Given the description of an element on the screen output the (x, y) to click on. 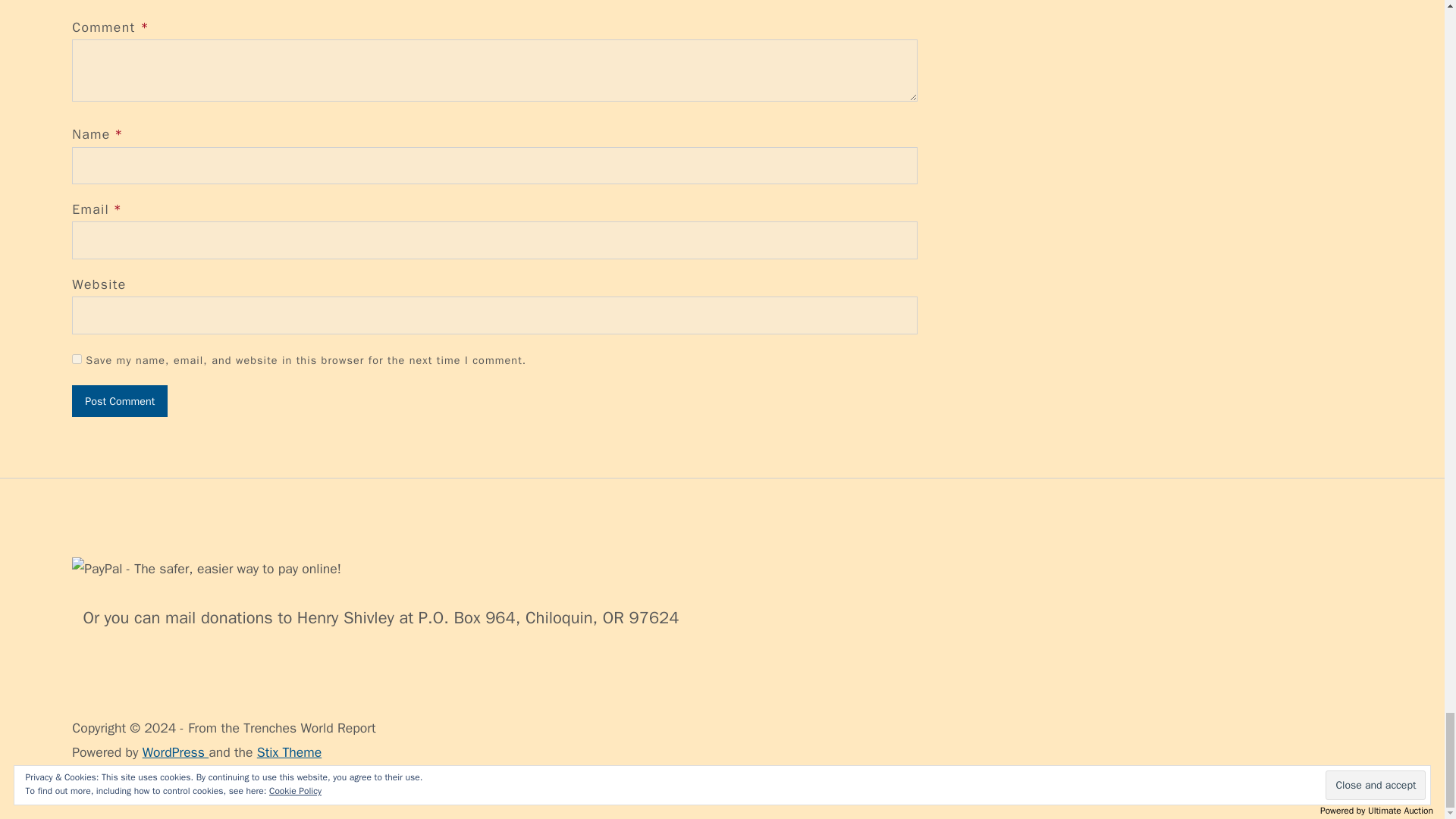
yes (76, 358)
Post Comment (119, 400)
